Given the description of an element on the screen output the (x, y) to click on. 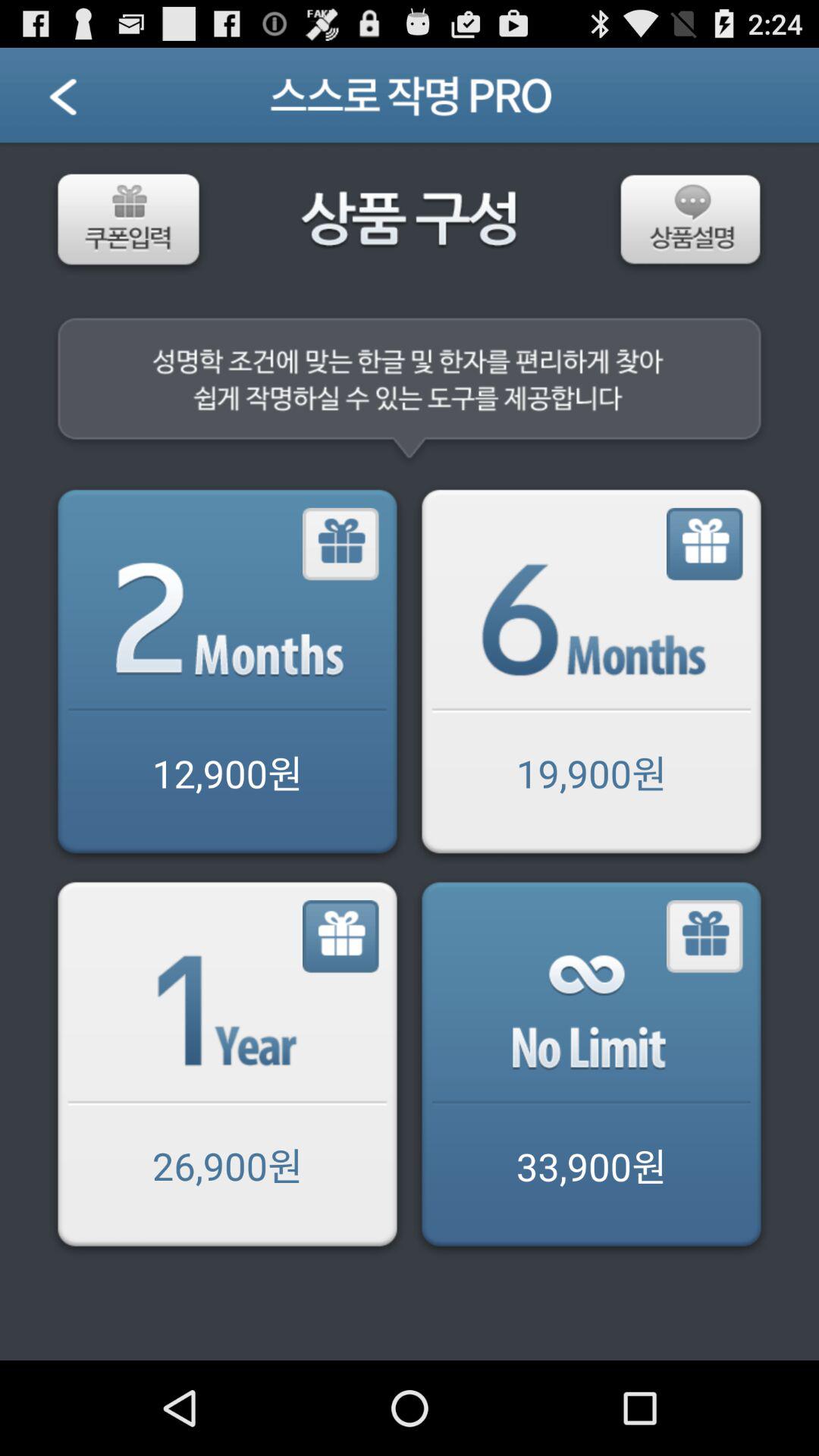
gift open option (340, 936)
